Given the description of an element on the screen output the (x, y) to click on. 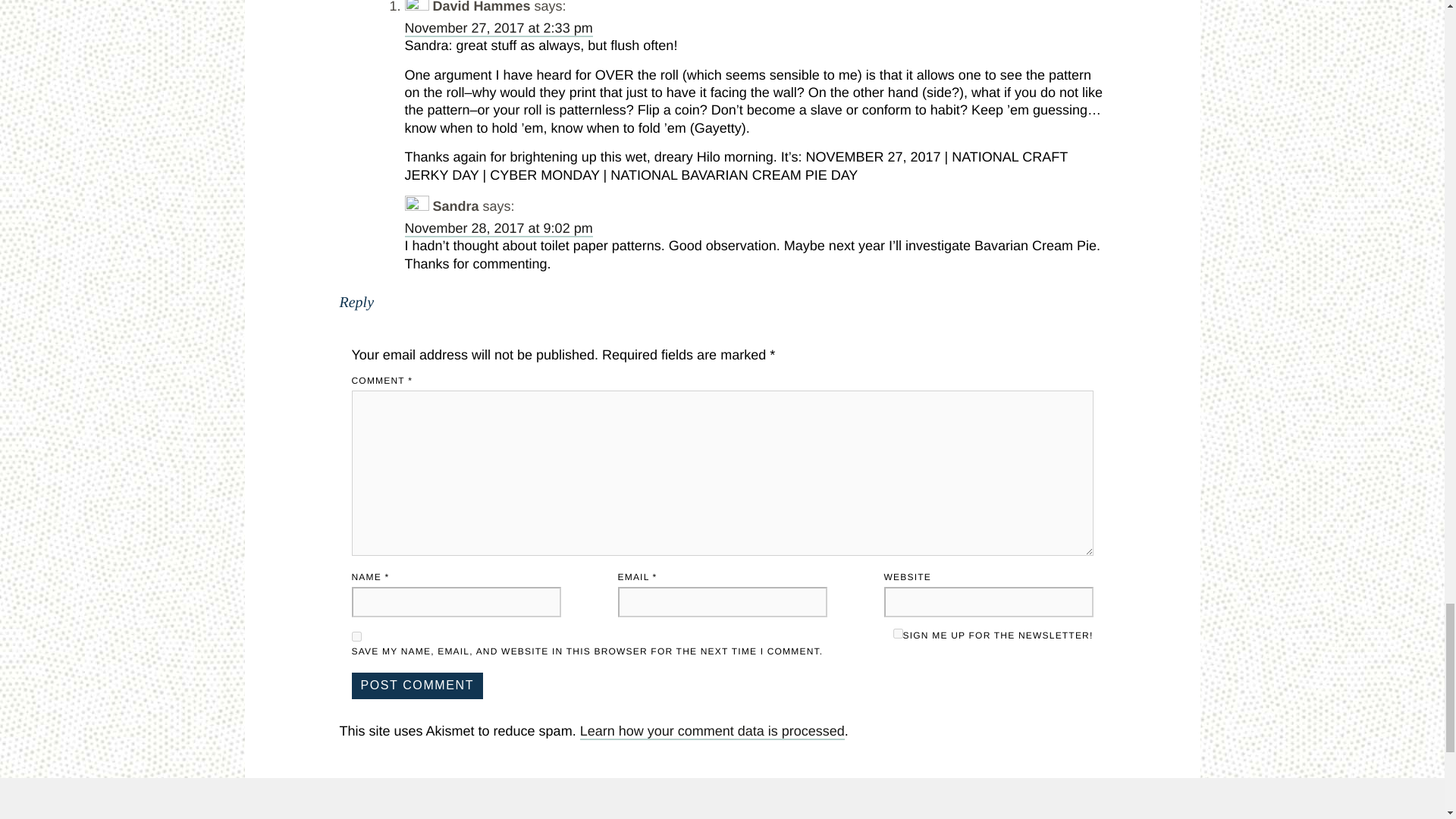
post comment (417, 685)
1 (897, 633)
yes (356, 636)
